Given the description of an element on the screen output the (x, y) to click on. 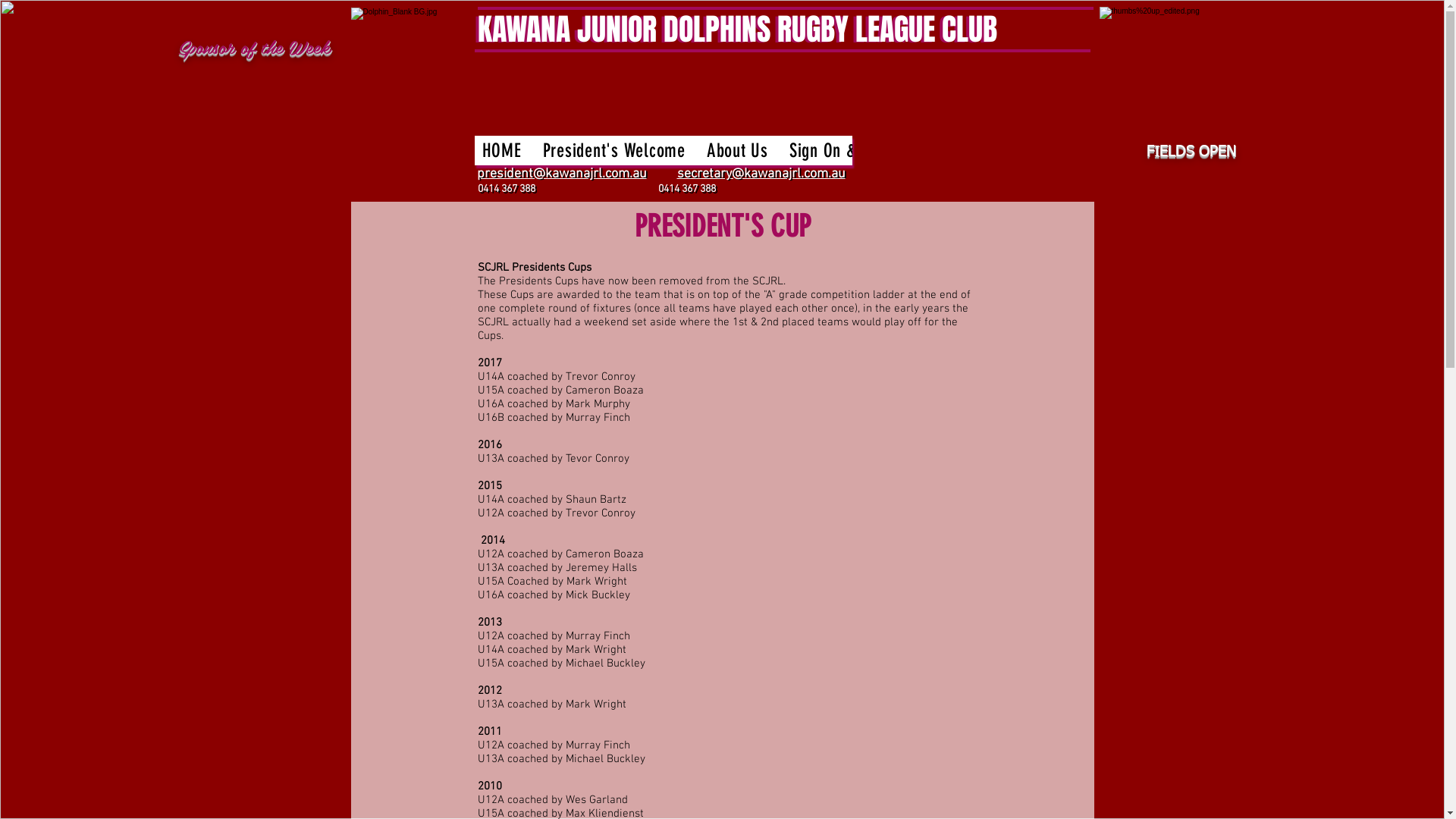
KAWANA JUNIOR DOLPHINS RUGBY LEAGUE CLUB Element type: text (737, 28)
secretary@kawanajrl.com.au Element type: text (760, 174)
Team Info Element type: text (1148, 150)
Club Info Element type: text (1062, 150)
About Us Element type: text (737, 150)
SHOP Element type: text (1220, 150)
KAWANA JUNIOR DOLPHINS RUGBY LEAGUE CLUB Element type: text (734, 29)
secretary@kawanajrl.com.au Element type: text (761, 174)
president@kawanajrl.com.au Element type: text (561, 174)
HOME Element type: text (501, 150)
president@kawanajrl.com.au Element type: text (562, 174)
President's Welcome Element type: text (614, 150)
Sign On & Training Info Element type: text (867, 150)
Forms Element type: text (988, 150)
Documents & Policies Element type: text (1334, 150)
